Given the description of an element on the screen output the (x, y) to click on. 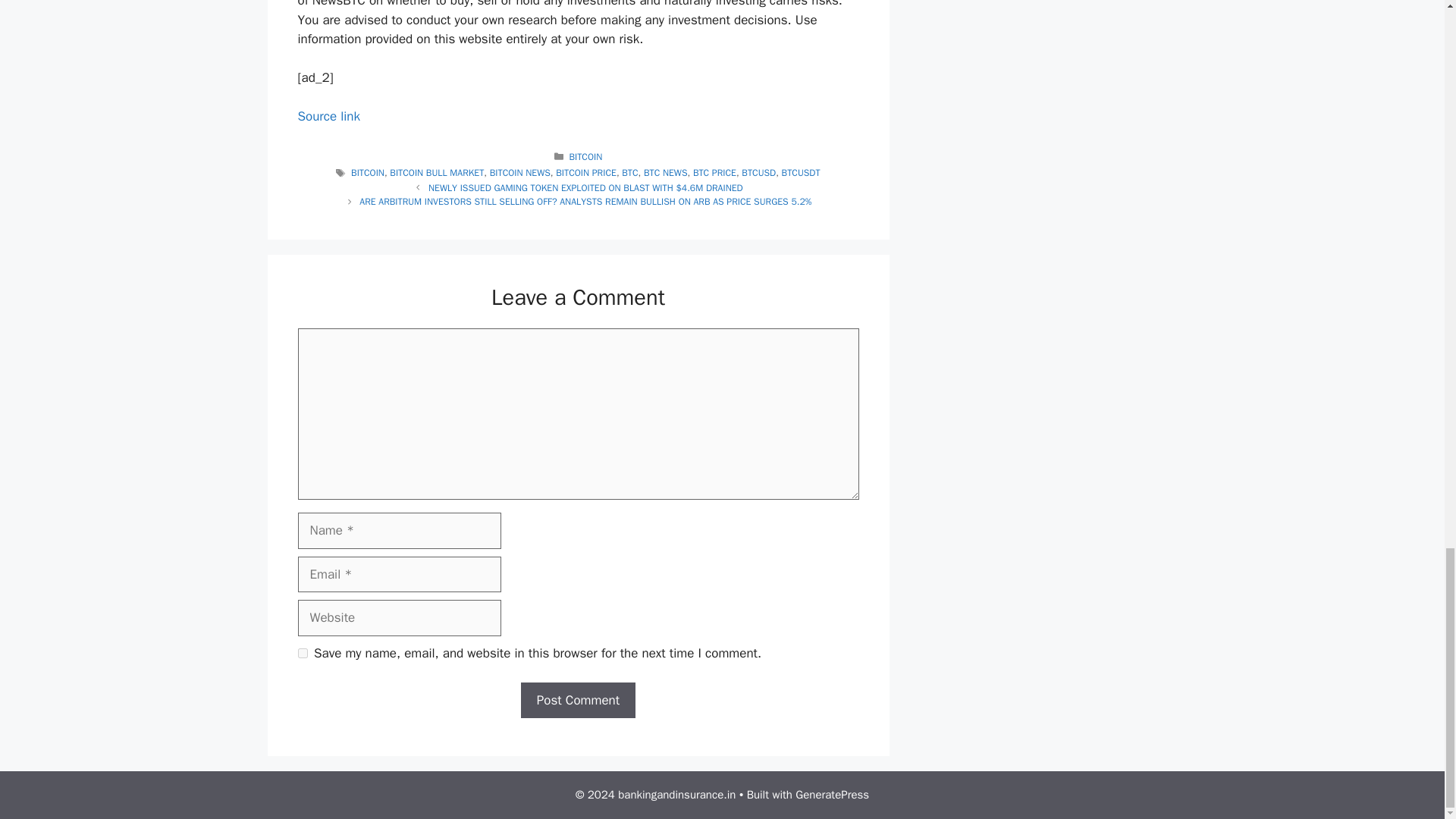
BITCOIN (585, 156)
BTC PRICE (714, 173)
Source link (328, 116)
BITCOIN PRICE (585, 173)
BITCOIN (367, 173)
BITCOIN BULL MARKET (436, 173)
BTC NEWS (665, 173)
Post Comment (577, 700)
BTC (629, 173)
yes (302, 653)
